Given the description of an element on the screen output the (x, y) to click on. 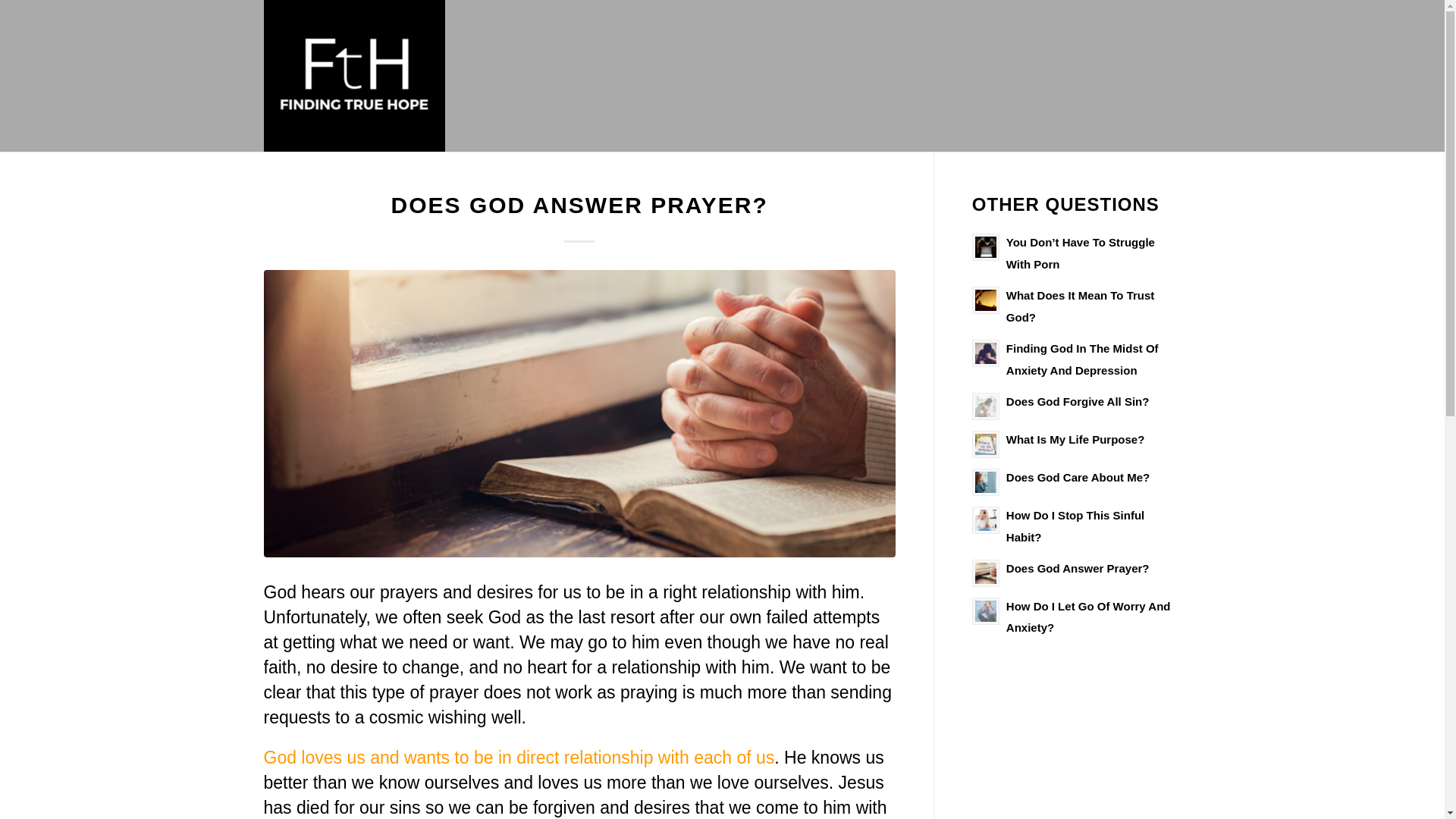
Read: What Does It Mean To Trust God? (1080, 306)
Does God Forgive All Sin? (1078, 400)
Finding God In The Midst Of Anxiety And Depression (1082, 359)
What Is My Life Purpose? (1075, 439)
How Do I Let Go Of Worry And Anxiety? (1088, 616)
Read: What Does It Mean To Trust God? (985, 299)
Does God Care About Me? (1078, 477)
How Do I Stop This Sinful Habit? (1075, 525)
Does God Answer Prayer? (1078, 567)
What Does It Mean To Trust God? (1080, 306)
